Given the description of an element on the screen output the (x, y) to click on. 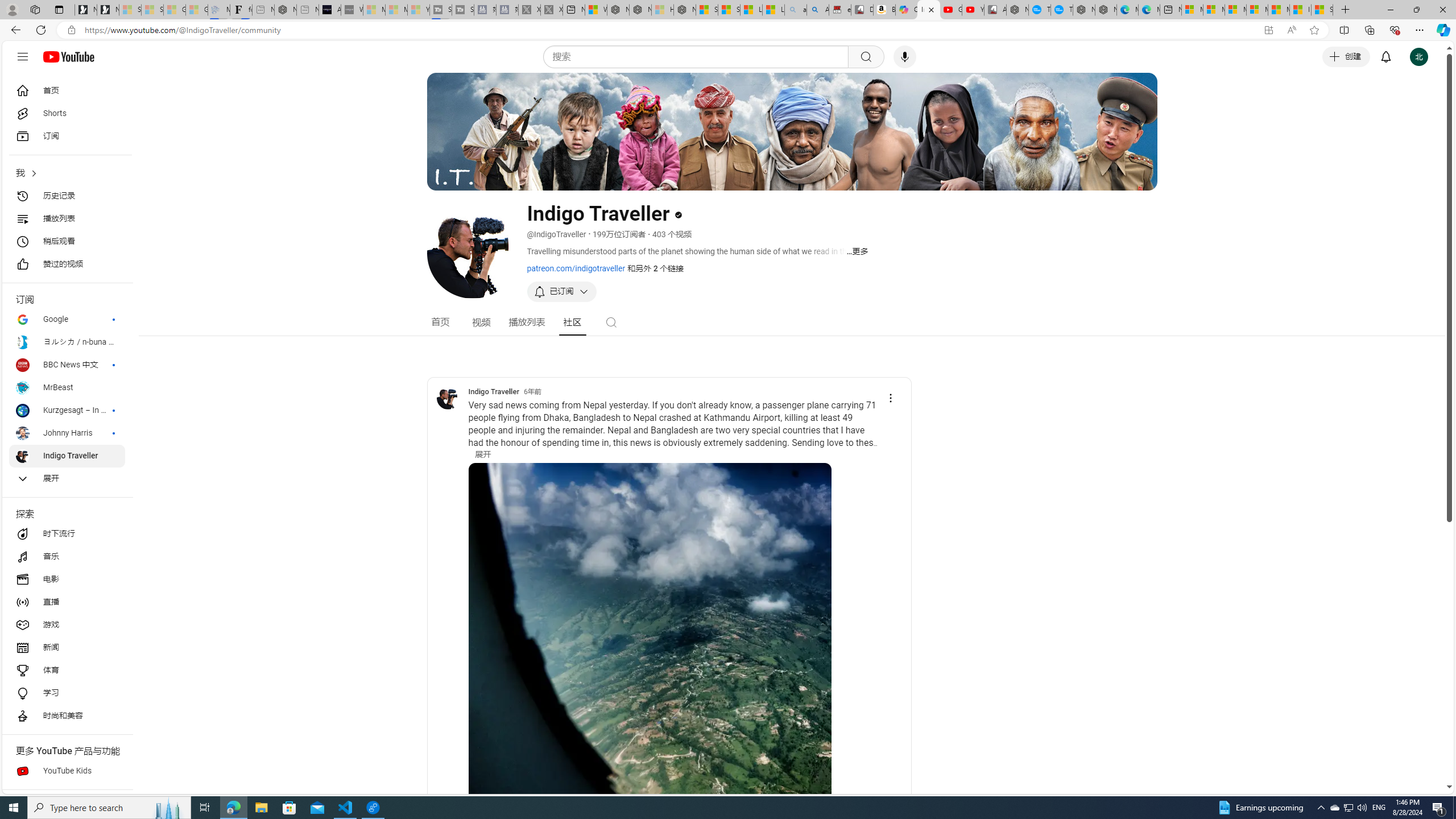
patreon.com/indigotraveller (576, 268)
Shorts (66, 113)
Gloom - YouTube (950, 9)
Nordace - Nordace has arrived Hong Kong (1105, 9)
